Given the description of an element on the screen output the (x, y) to click on. 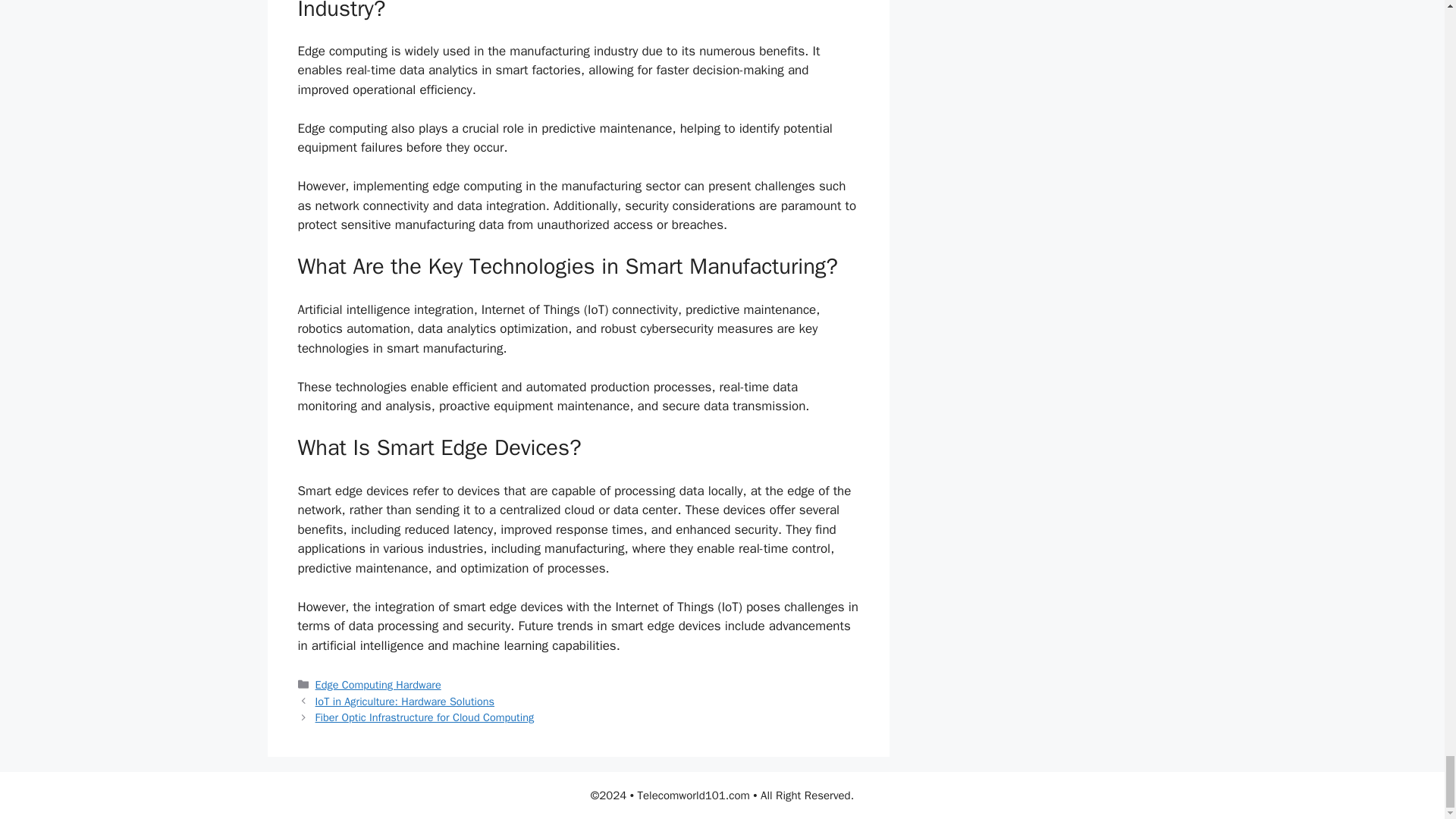
IoT in Agriculture: Hardware Solutions (405, 701)
Edge Computing Hardware (378, 684)
